Given the description of an element on the screen output the (x, y) to click on. 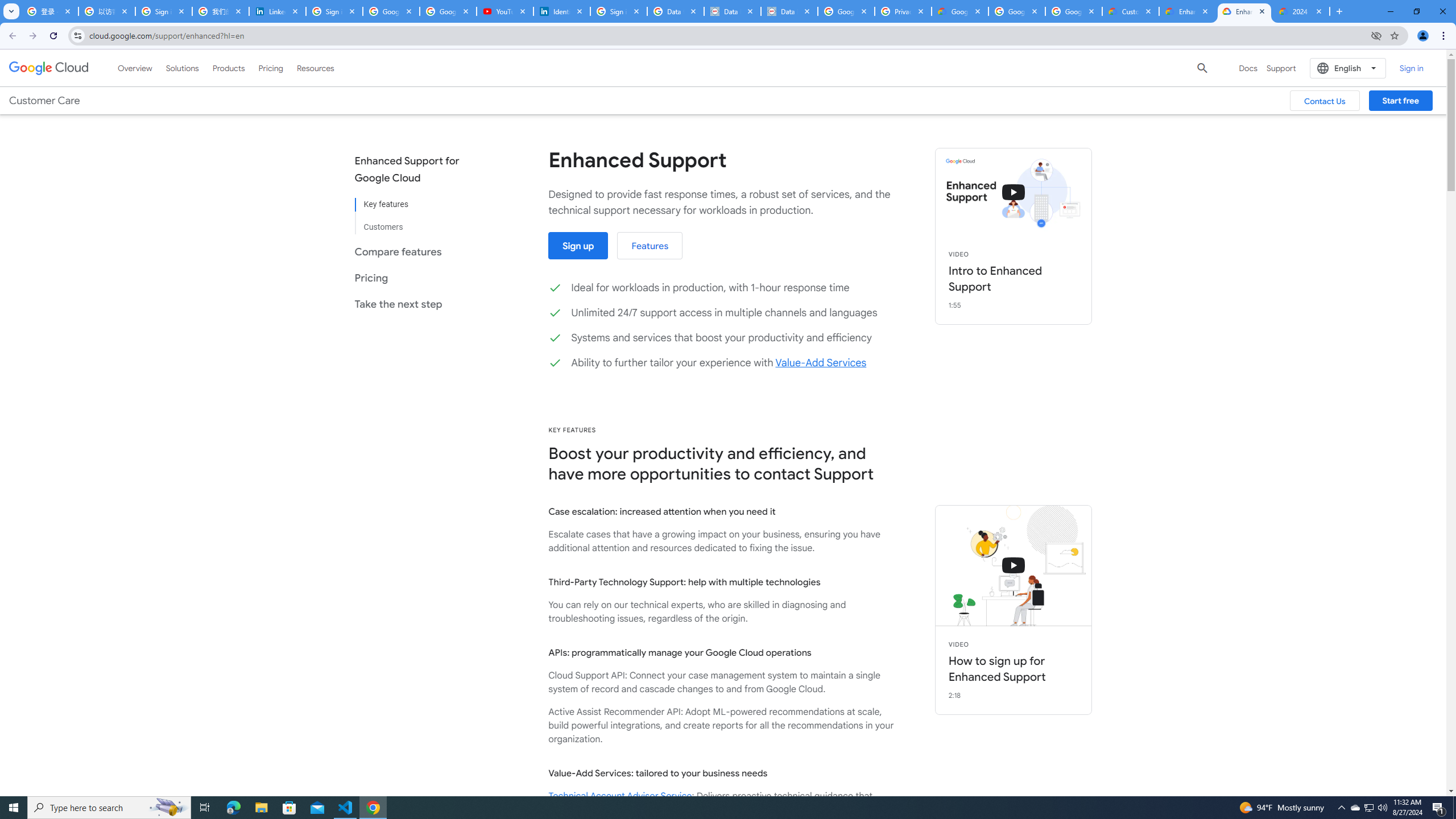
Take the next step (414, 303)
Google Workspace - Specific Terms (1073, 11)
Enhanced Support in action (1013, 192)
Sign in - Google Accounts (618, 11)
Enhanced Support | Google Cloud (1244, 11)
Contact Us (1324, 100)
Sign up (578, 245)
